Given the description of an element on the screen output the (x, y) to click on. 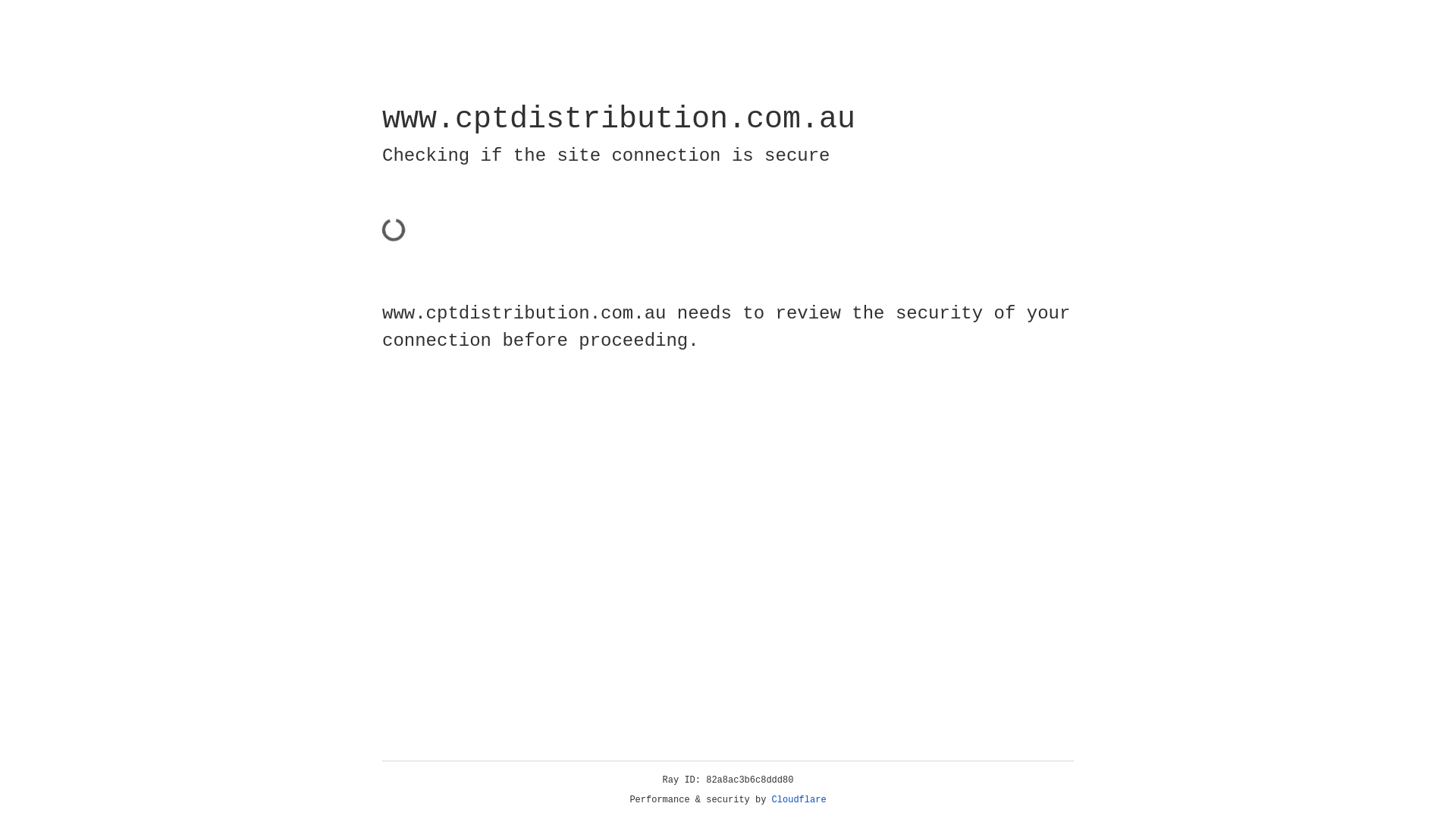
Cloudflare Element type: text (798, 799)
